Given the description of an element on the screen output the (x, y) to click on. 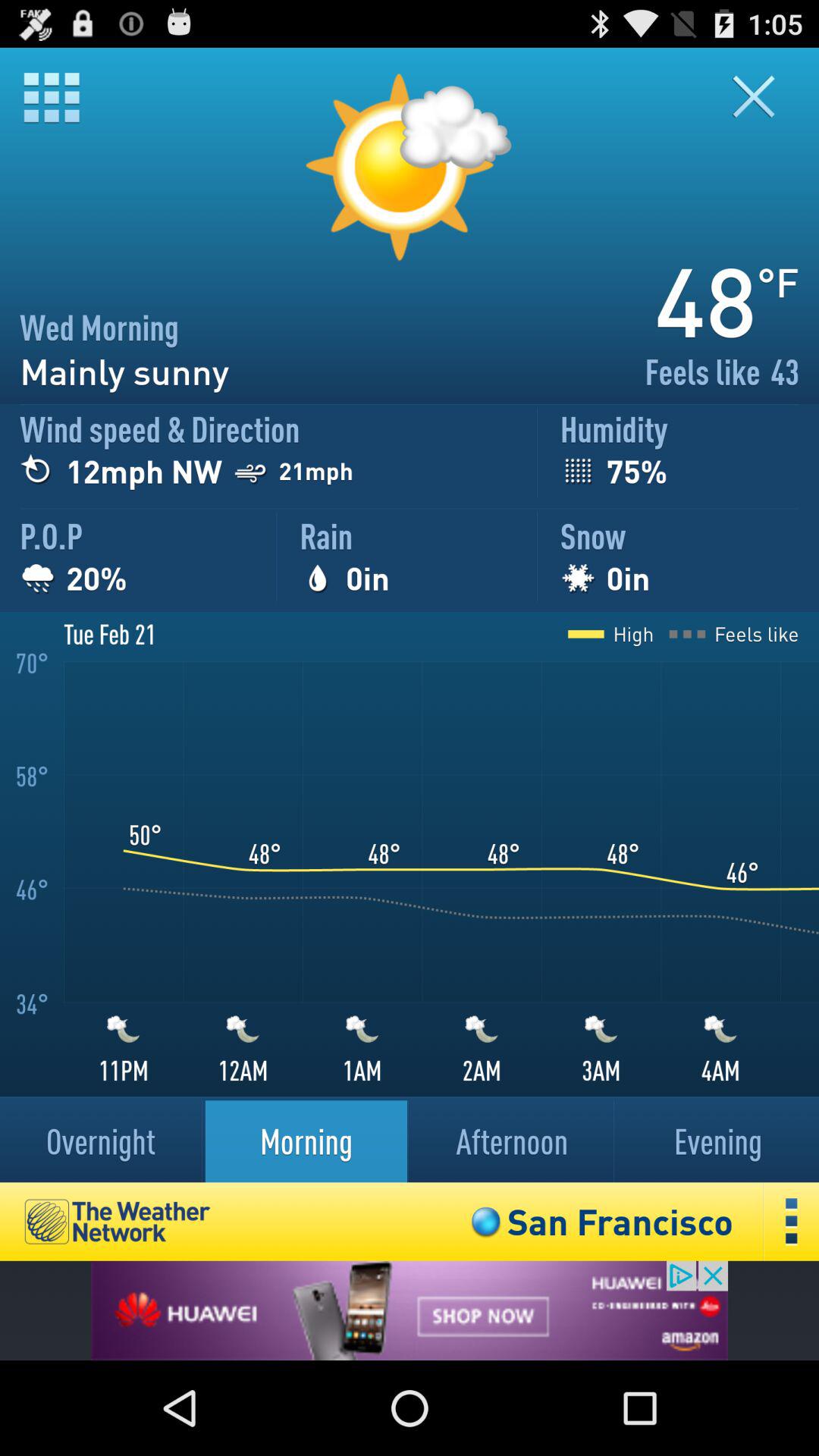
open the option menu for san francisco (791, 1221)
